Given the description of an element on the screen output the (x, y) to click on. 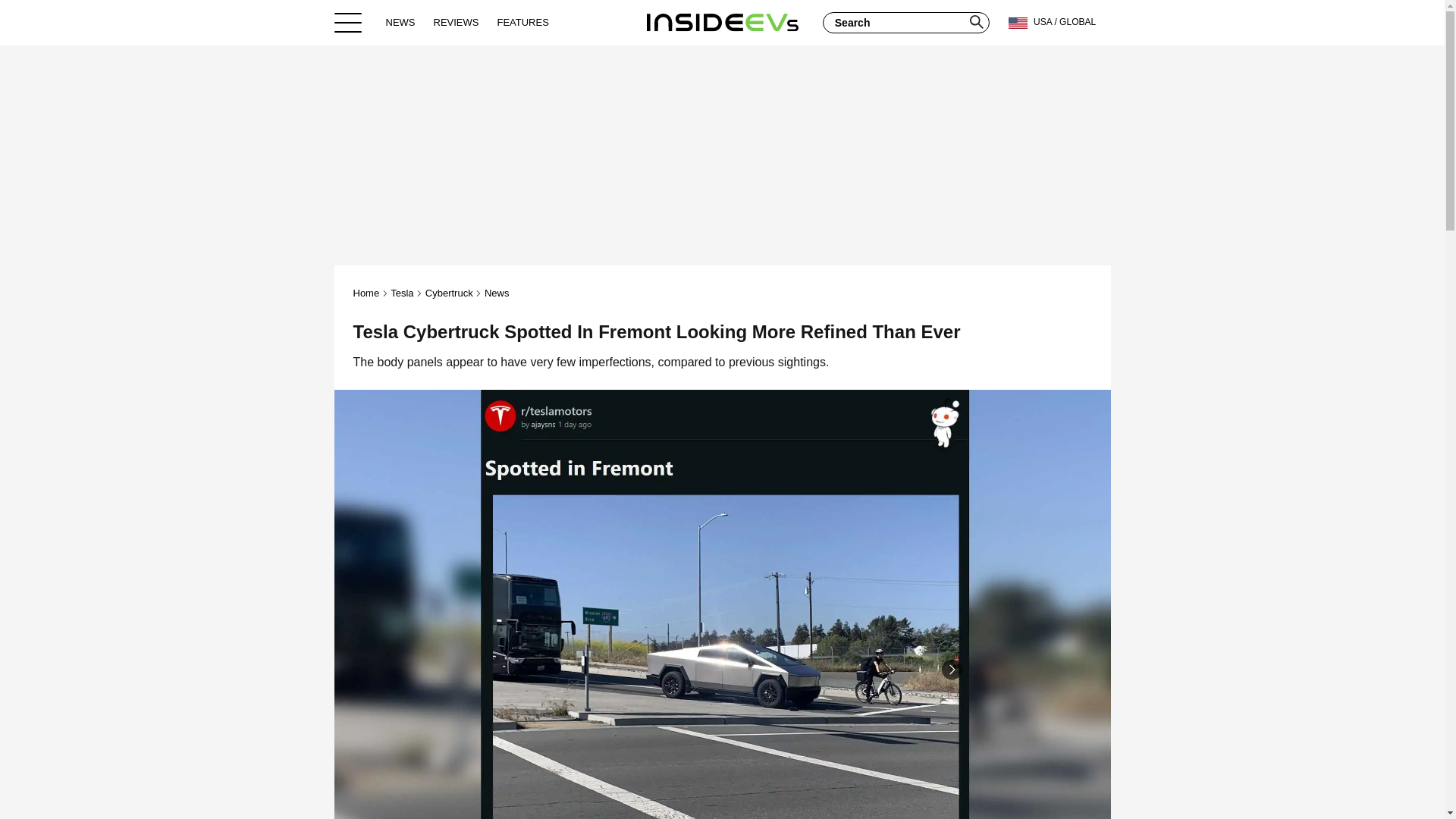
NEWS (399, 22)
Home (366, 293)
Cybertruck (449, 292)
REVIEWS (456, 22)
FEATURES (522, 22)
News (496, 292)
Home (721, 22)
Tesla (401, 292)
